Given the description of an element on the screen output the (x, y) to click on. 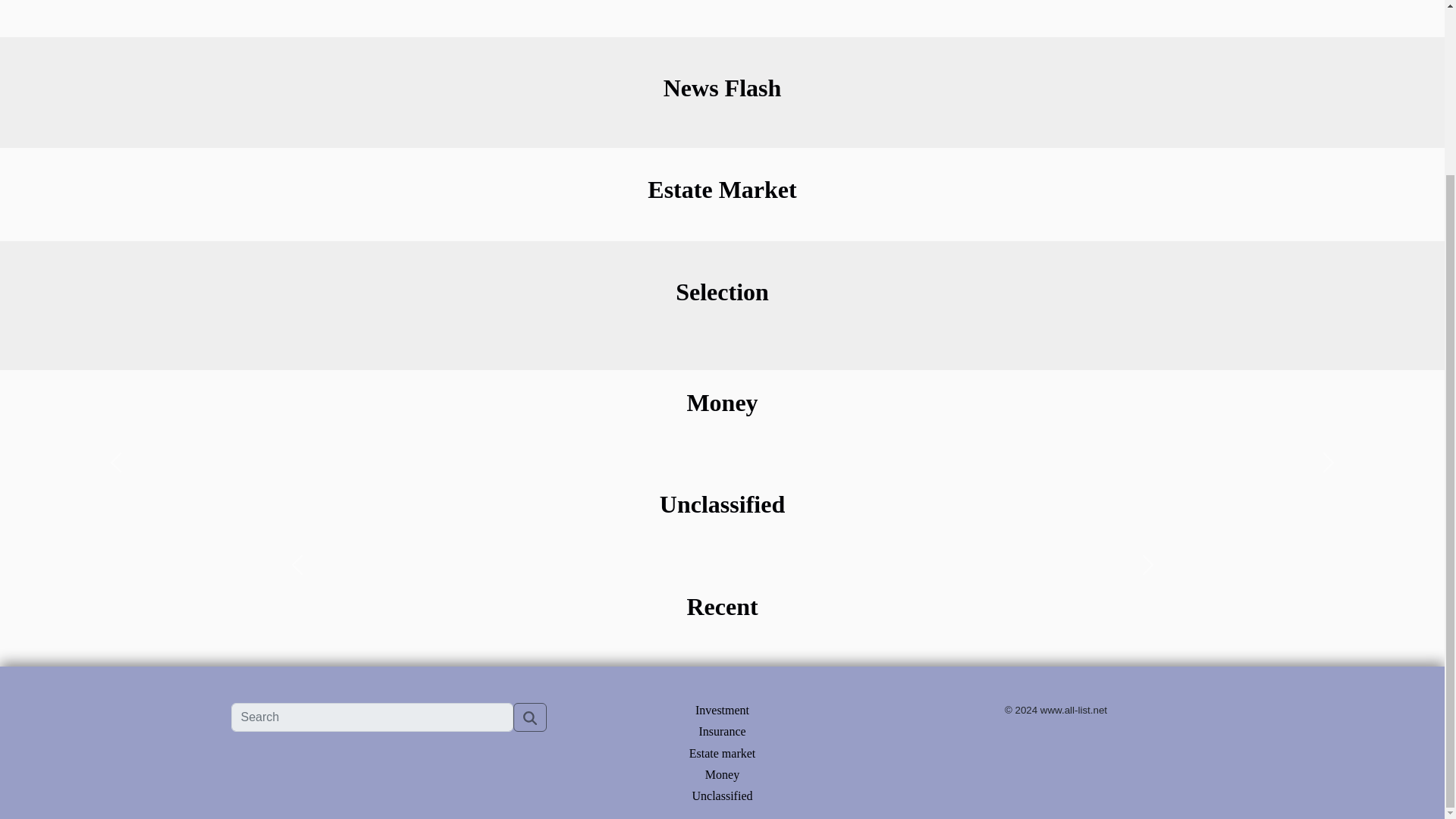
Insurance (721, 730)
Estate market (721, 752)
Investment (722, 709)
Unclassified (721, 795)
Insurance (721, 730)
Investment (722, 709)
Unclassified (721, 795)
Estate market (721, 752)
Money (721, 774)
Money (721, 774)
